Given the description of an element on the screen output the (x, y) to click on. 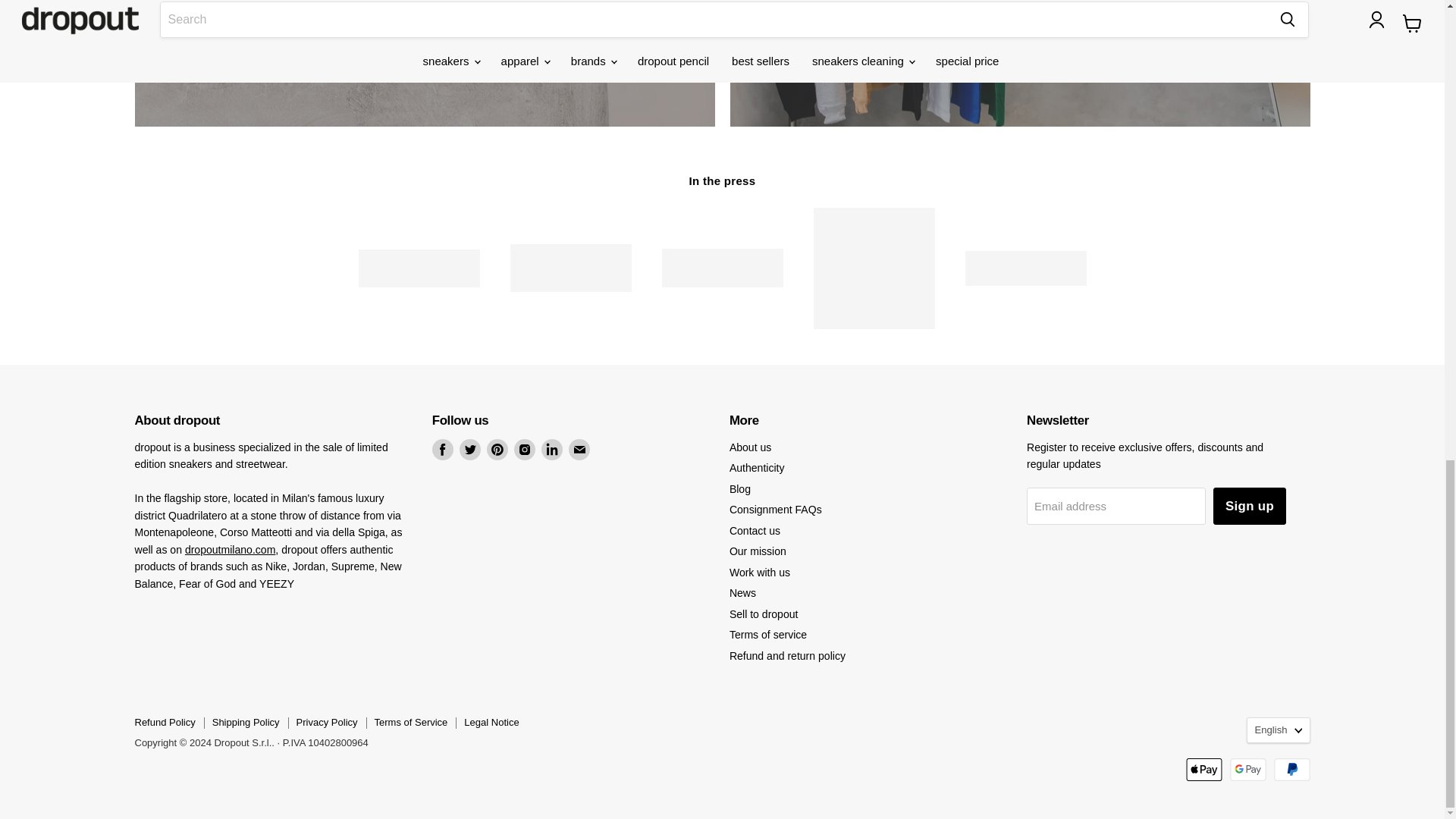
Pinterest (497, 449)
Facebook (442, 449)
LinkedIn (551, 449)
Email (579, 449)
Instagram (524, 449)
Twitter (470, 449)
